Given the description of an element on the screen output the (x, y) to click on. 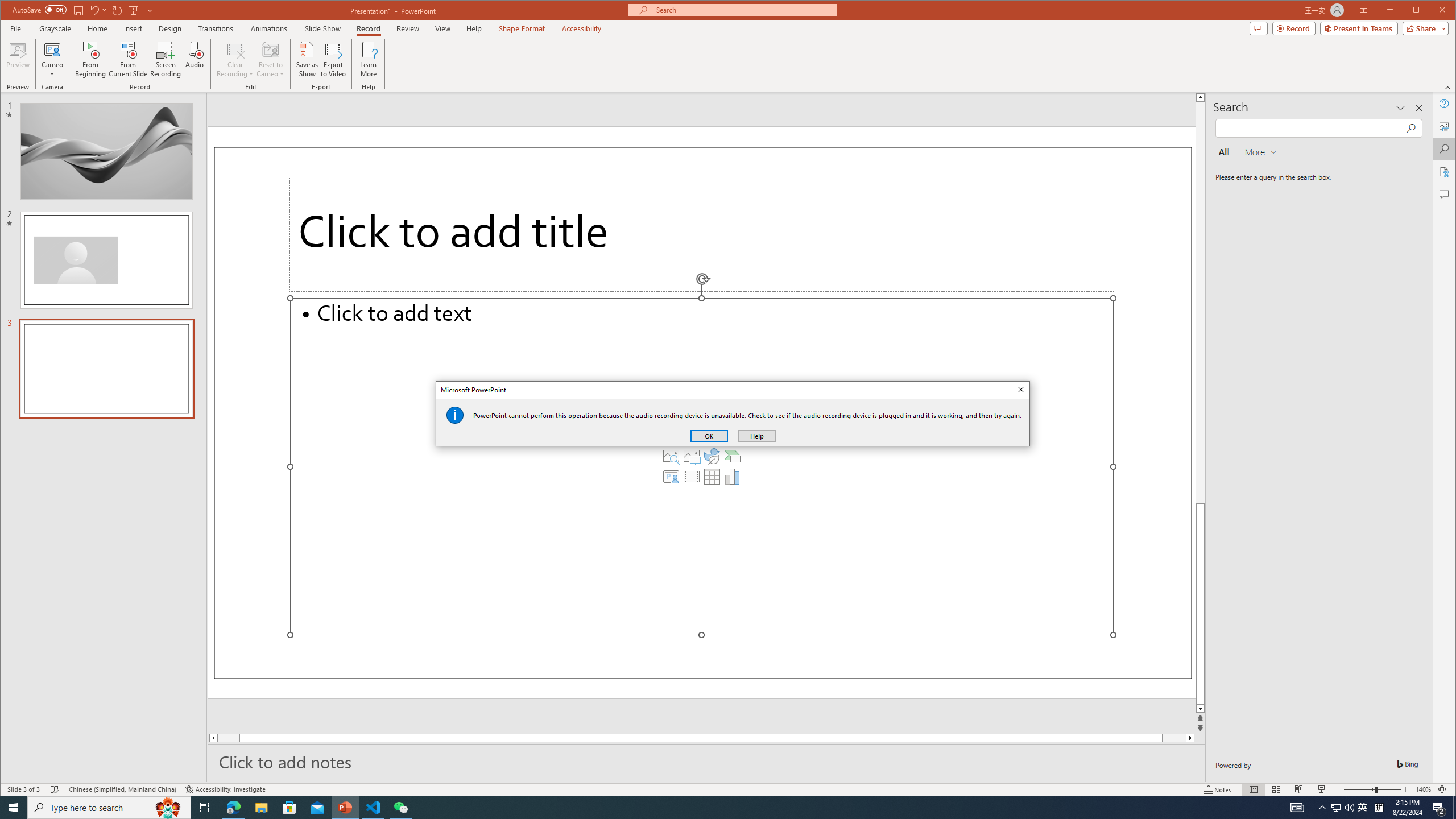
Insert Table (711, 476)
Shape Format (521, 28)
Screen Recording (165, 59)
Maximize (1432, 11)
OK (709, 435)
Export to Video (333, 59)
Insert Video (691, 476)
